Given the description of an element on the screen output the (x, y) to click on. 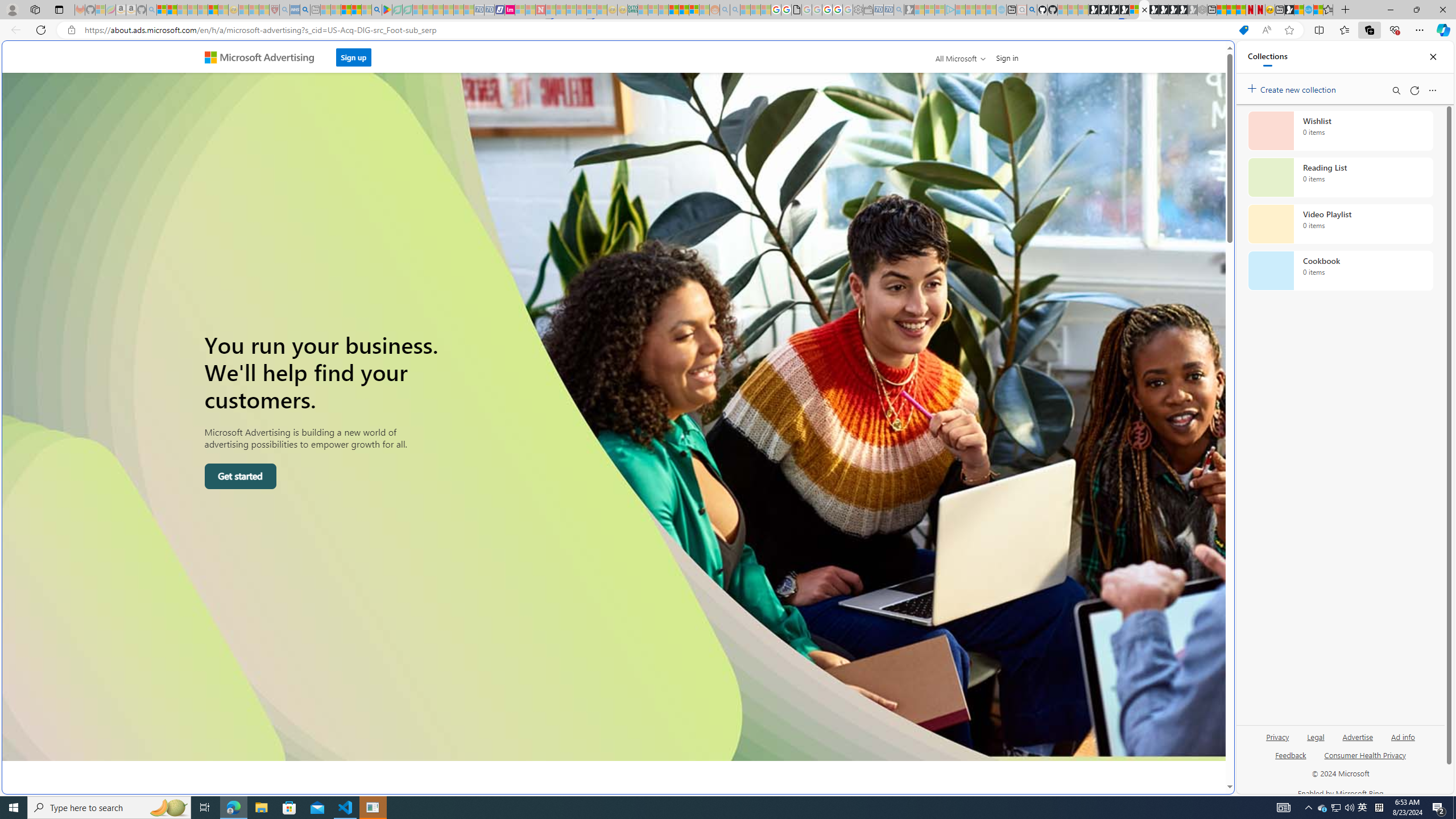
Video Playlist collection, 0 items (1339, 223)
Search or enter web address (922, 108)
Reading List collection, 0 items (1339, 177)
